Given the description of an element on the screen output the (x, y) to click on. 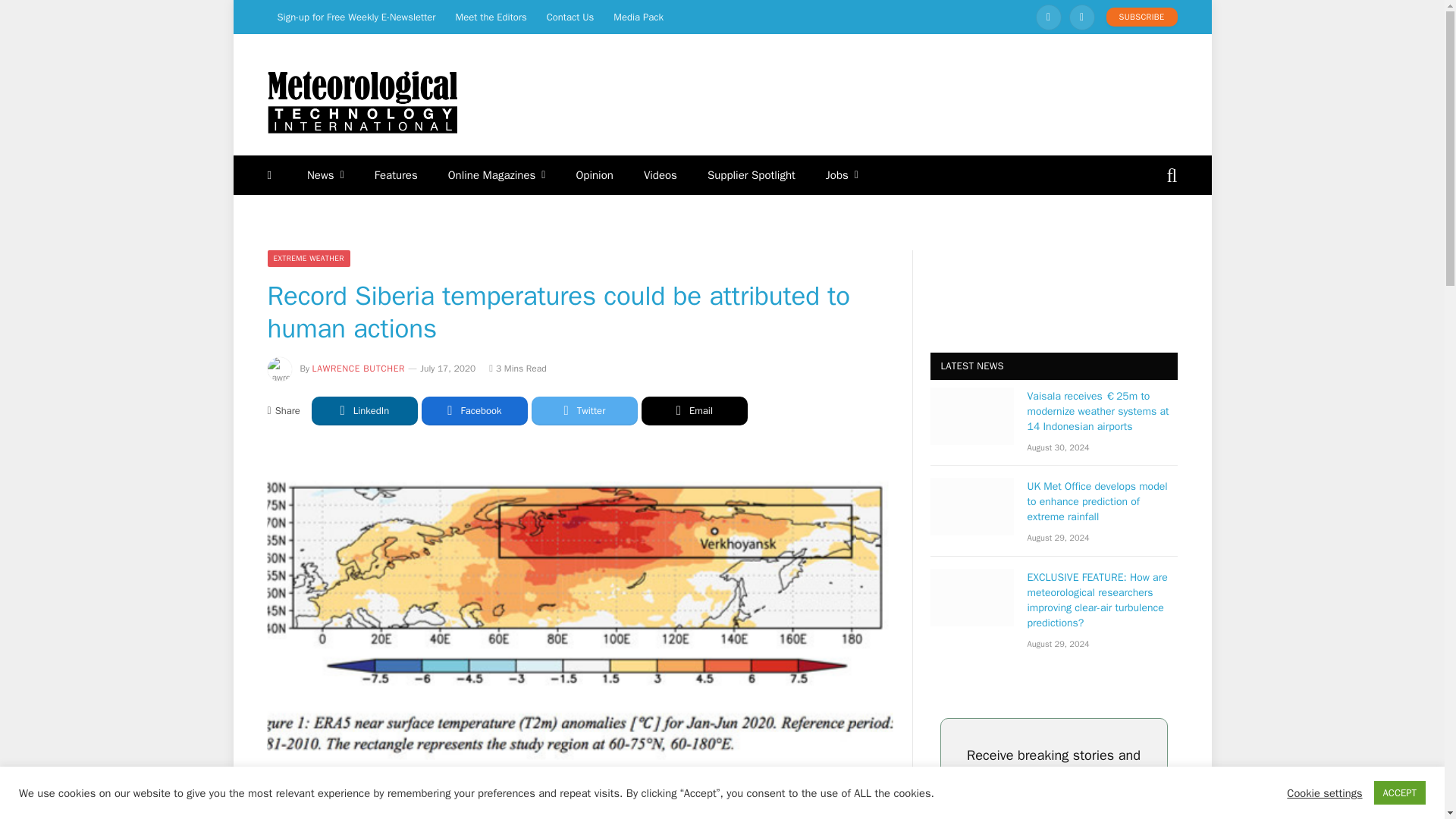
Share on Twitter (584, 410)
Share on Facebook (474, 410)
Meteorological Technology International (361, 101)
Share via Email (695, 410)
Posts by Lawrence Butcher (359, 368)
Share on LinkedIn (364, 410)
